Given the description of an element on the screen output the (x, y) to click on. 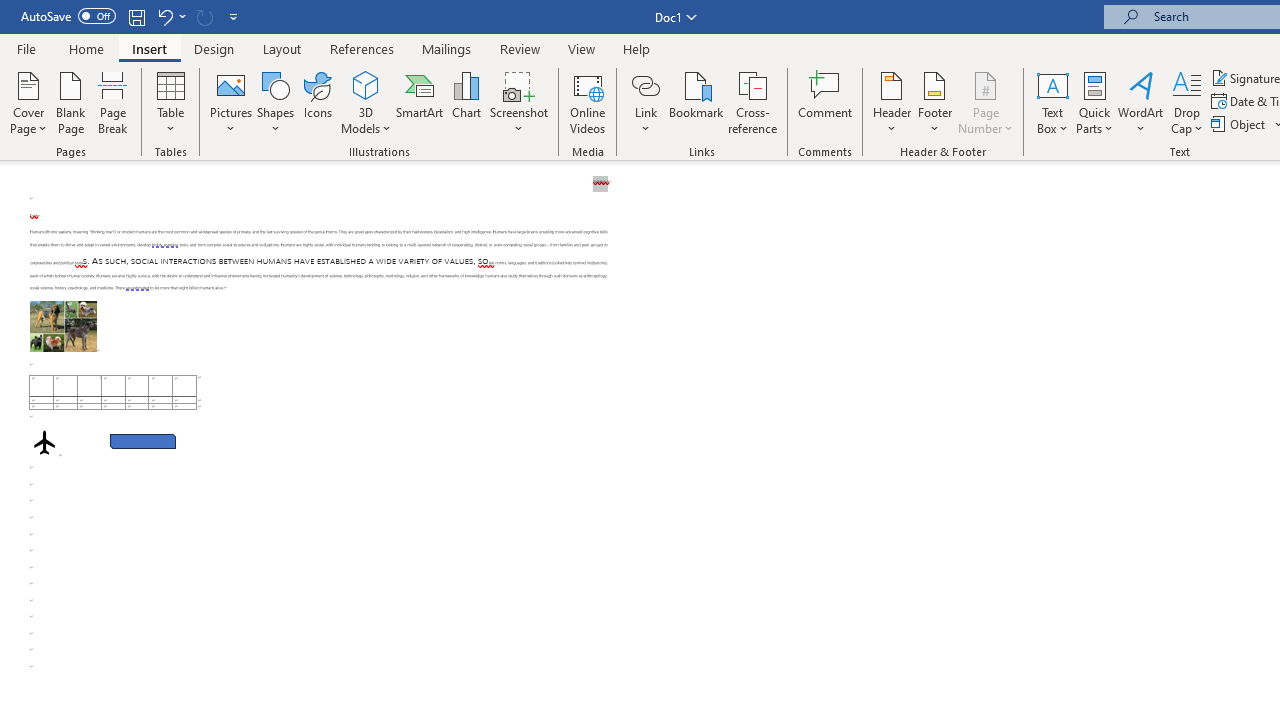
Mailings (447, 48)
Rectangle: Diagonal Corners Snipped 2 (143, 441)
Online Videos... (588, 102)
Pictures (230, 102)
Header (891, 102)
File Tab (26, 48)
System (10, 11)
Morphological variation in six dogs (63, 326)
Undo Apply Quick Style Set (170, 15)
System (10, 11)
Undo Apply Quick Style Set (164, 15)
References (362, 48)
Link (645, 84)
Airplane with solid fill (43, 442)
